Given the description of an element on the screen output the (x, y) to click on. 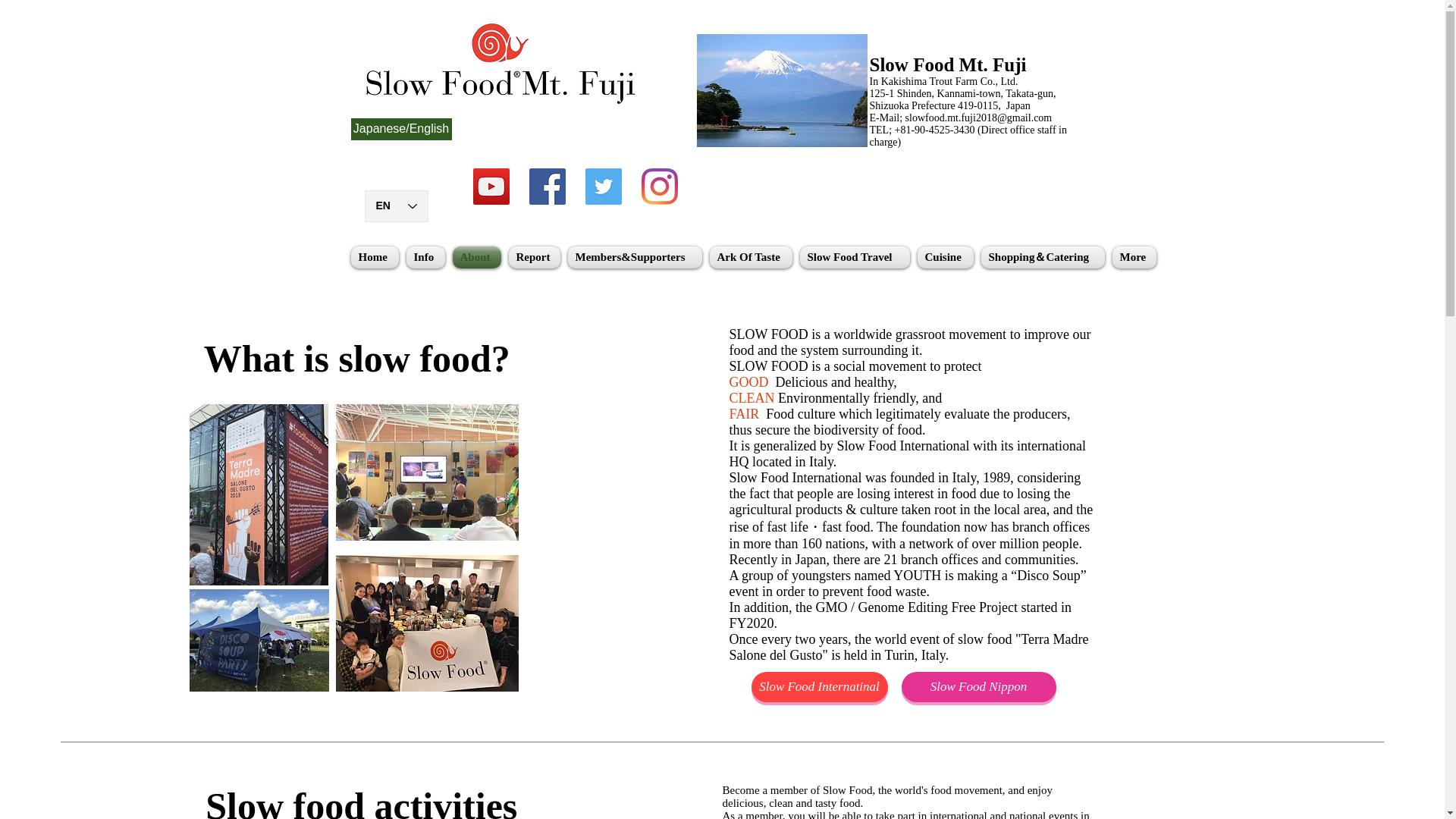
About (476, 257)
Home (375, 257)
Slow Food Travel (855, 257)
Ark Of Taste (749, 257)
Slow Food Internatinal (818, 686)
Report (534, 257)
Info (424, 257)
Slow Food Nippon (978, 686)
Cuisine (944, 257)
